Given the description of an element on the screen output the (x, y) to click on. 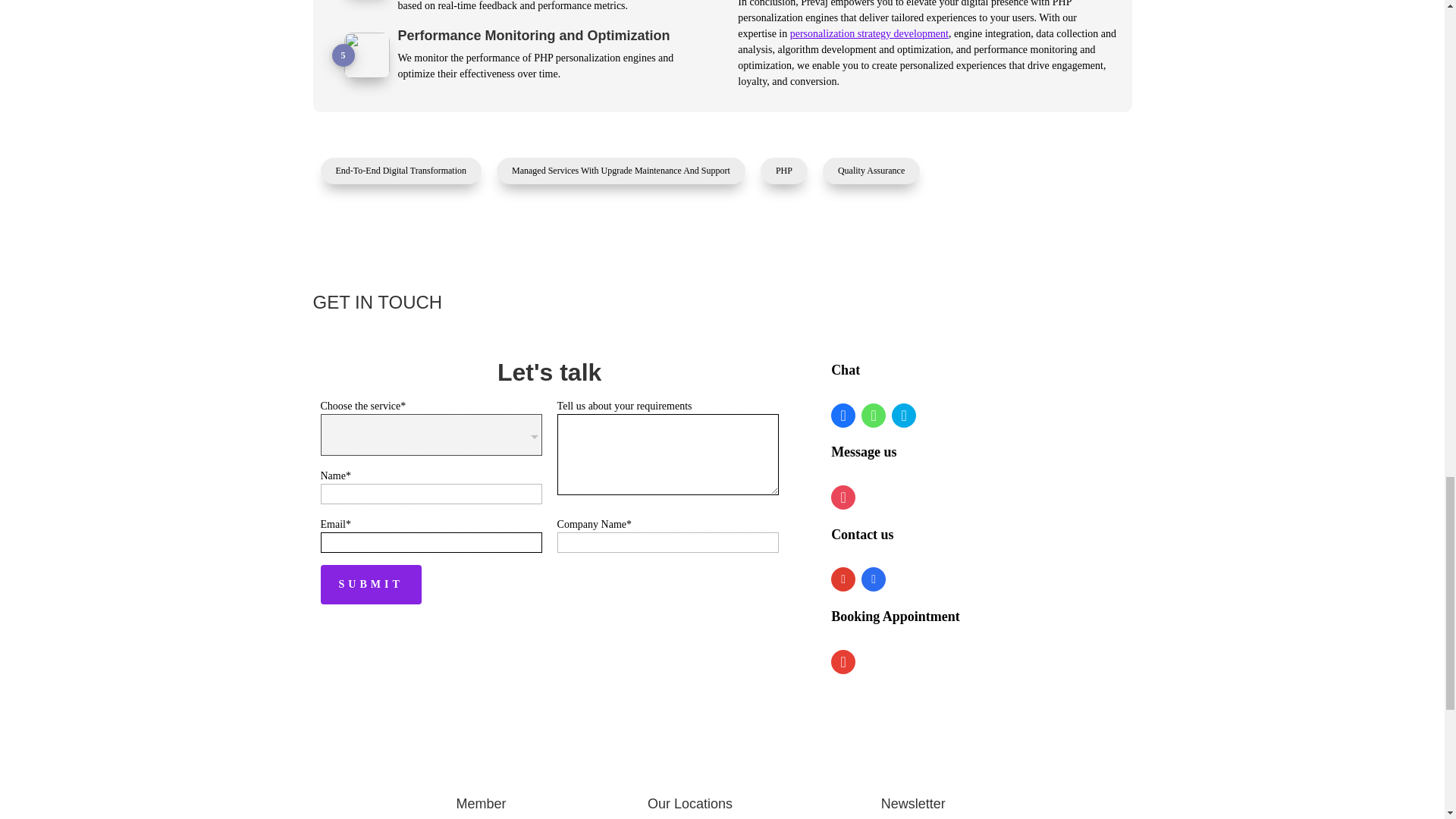
Contact with us on Call (873, 579)
PHP (784, 171)
End-To-End Digital Transformation (400, 171)
Chat with us on Facebook (843, 417)
Quality Assurance (871, 171)
Message with us on Instagram (843, 499)
Chat with us on whatsapp (873, 417)
Contact with us on Mail (843, 579)
Schedule an appointment (843, 663)
SUBMIT (370, 584)
